Given the description of an element on the screen output the (x, y) to click on. 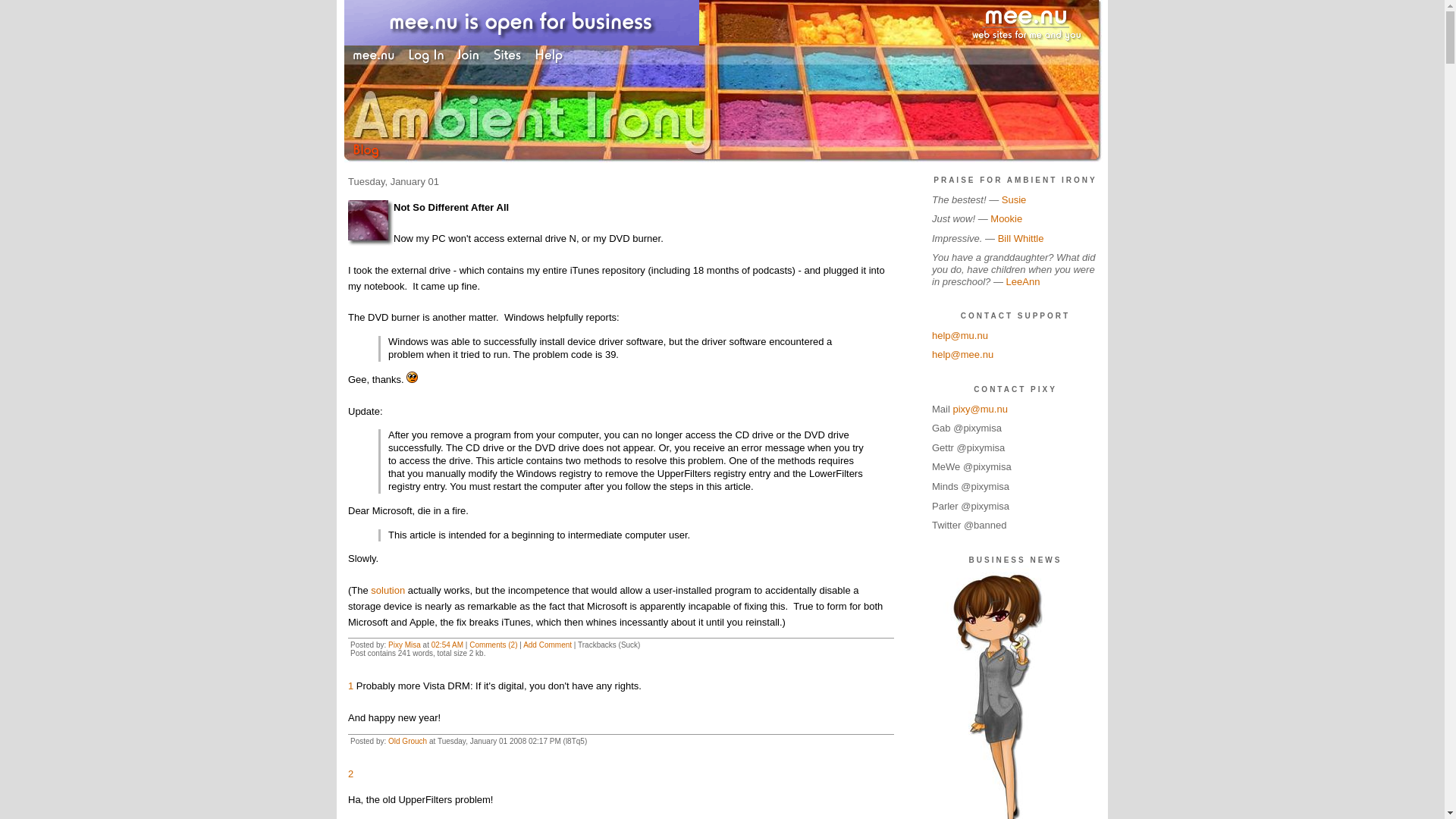
Add Comment (547, 644)
Geek (370, 222)
Mookie (1006, 218)
Pixy Misa (404, 644)
02:54 AM (446, 644)
Susie (1013, 199)
LeeAnn (1023, 281)
Old Grouch (407, 741)
Bill Whittle (1020, 238)
solution (387, 590)
